Given the description of an element on the screen output the (x, y) to click on. 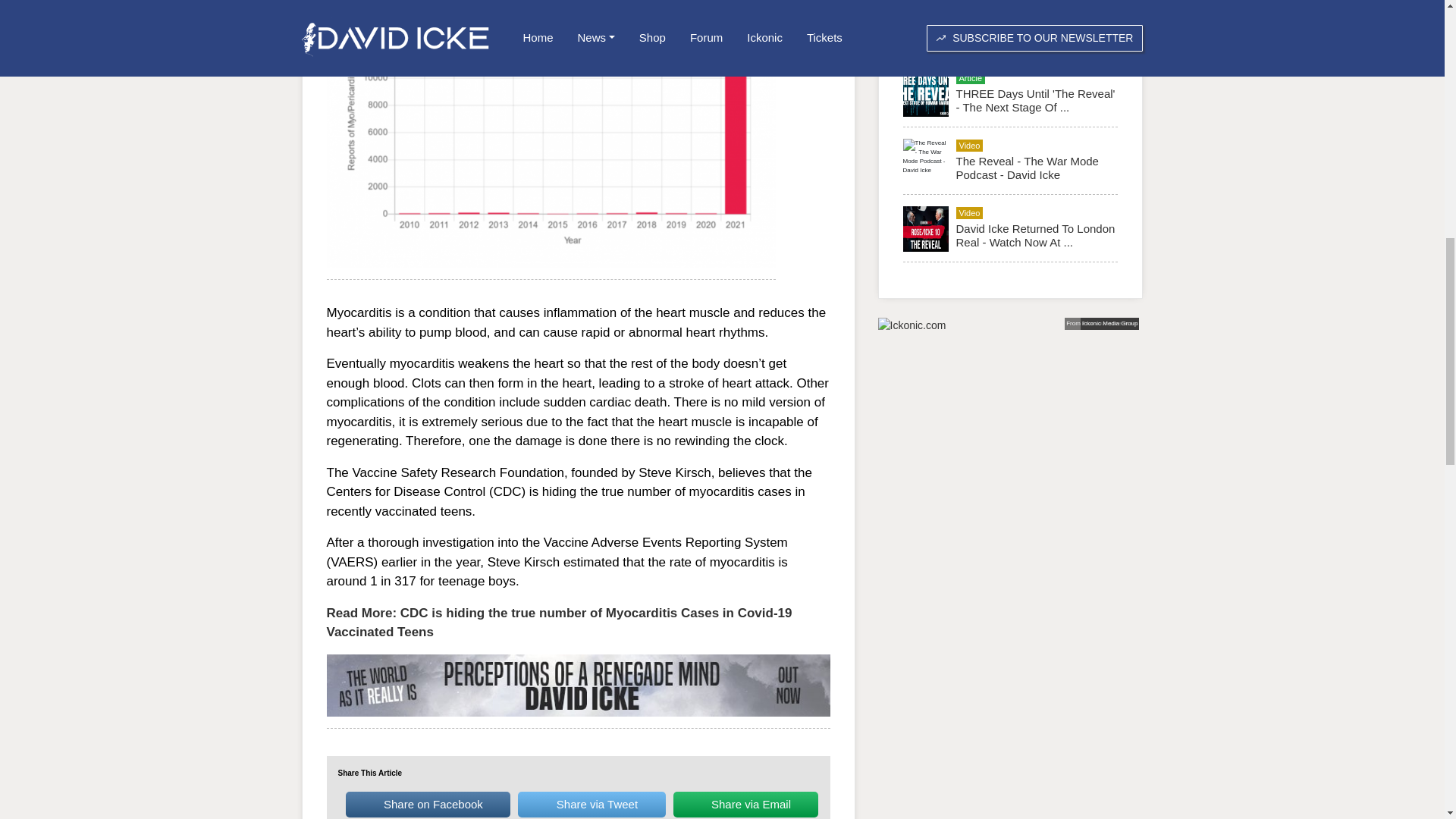
Share via Email (745, 804)
The Reveal - The War Mode Podcast - David Icke (1026, 167)
Share via Tweet (591, 804)
Share on Facebook (428, 804)
